Given the description of an element on the screen output the (x, y) to click on. 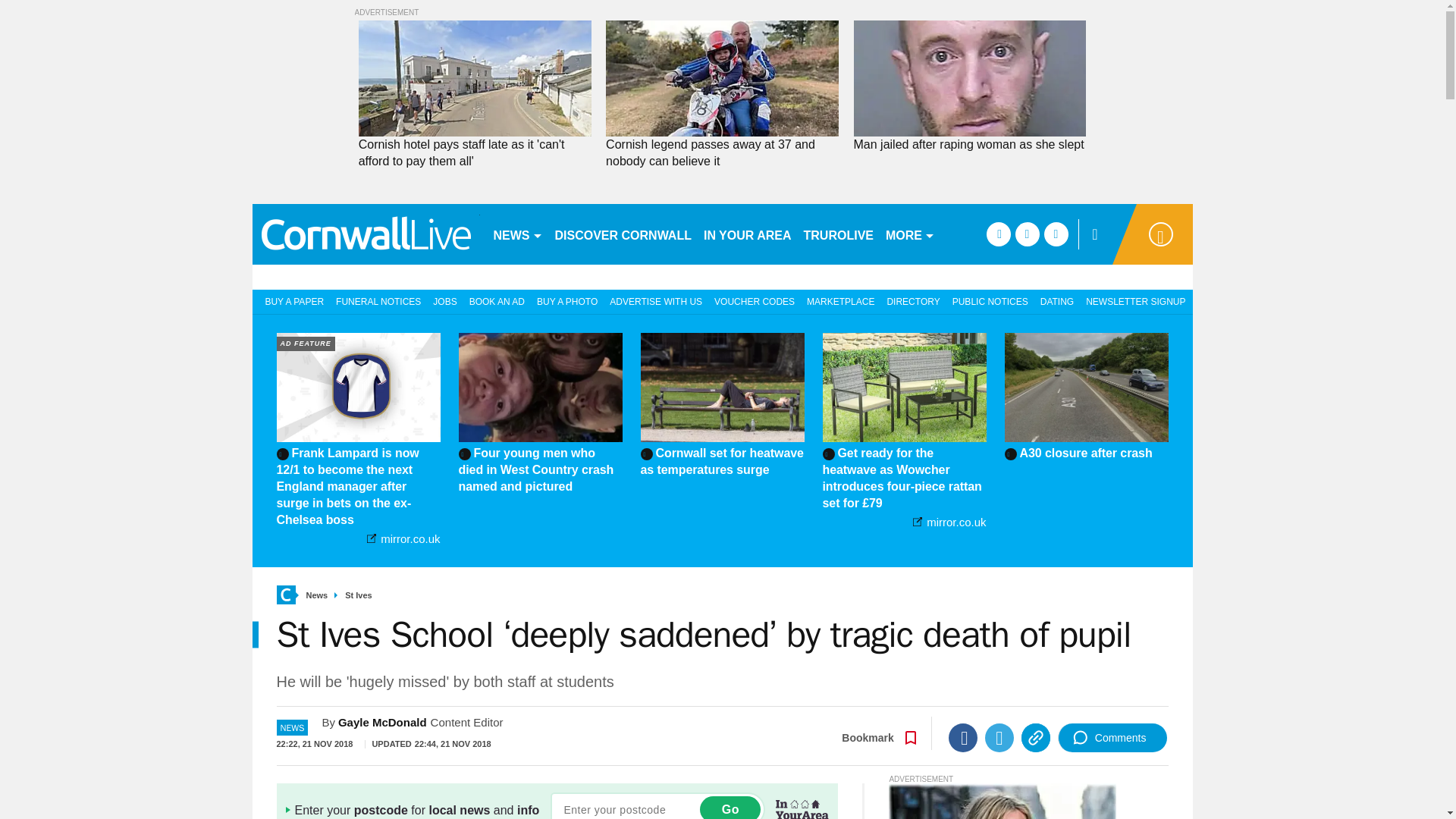
twitter (1026, 233)
cornwalllive (365, 233)
Twitter (999, 737)
MORE (909, 233)
NEWS (517, 233)
Cornish legend passes away at 37 and nobody can believe it (721, 152)
instagram (1055, 233)
Man jailed after raping woman as she slept (969, 144)
DISCOVER CORNWALL (622, 233)
Comments (1112, 737)
Go (730, 807)
Facebook (962, 737)
IN YOUR AREA (747, 233)
Man jailed after raping woman as she slept (969, 144)
